Given the description of an element on the screen output the (x, y) to click on. 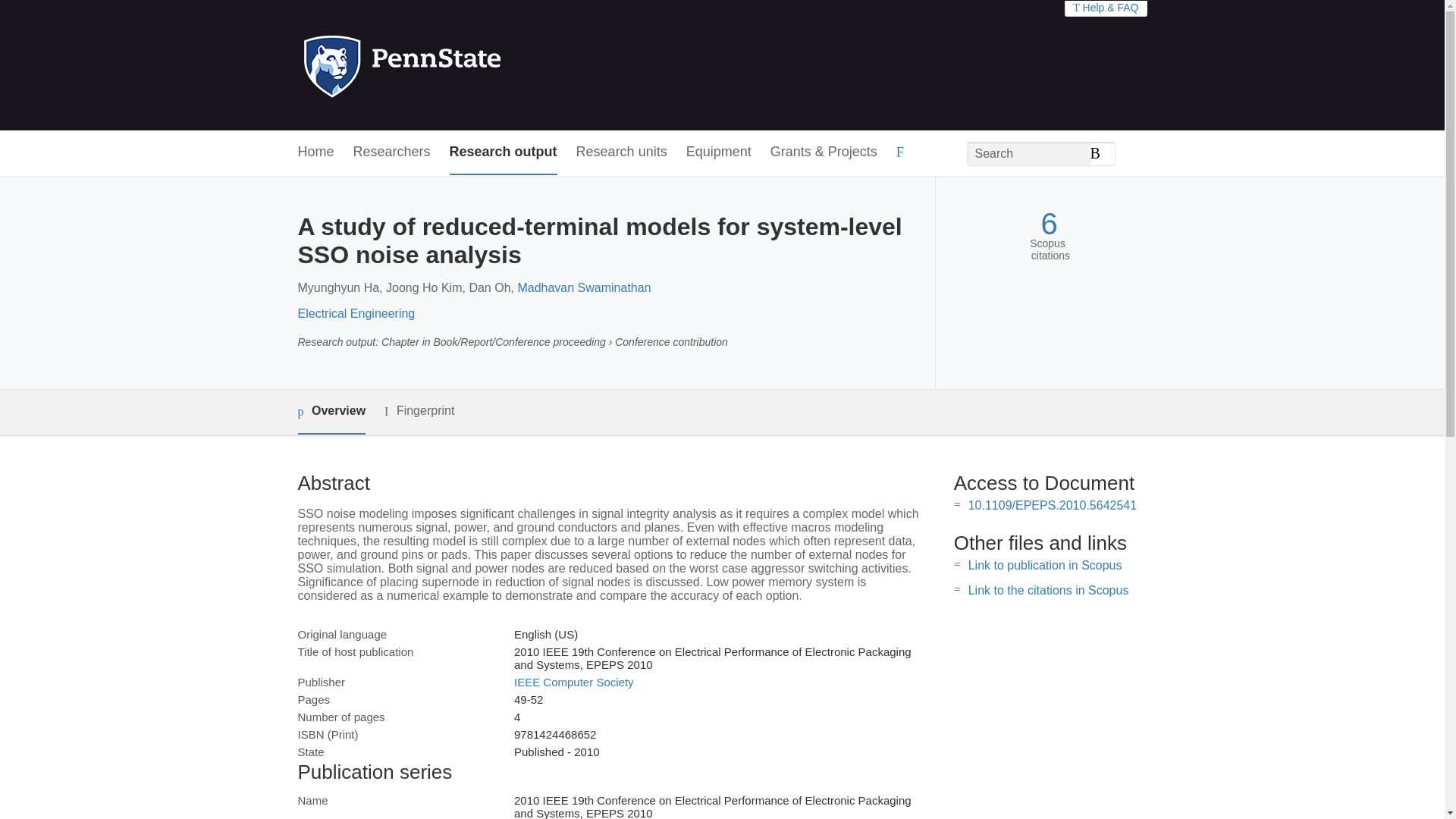
Overview (331, 411)
Research output (503, 152)
Electrical Engineering (355, 313)
Penn State Home (467, 65)
Madhavan Swaminathan (583, 287)
Research units (621, 152)
Equipment (718, 152)
IEEE Computer Society (573, 681)
Researchers (391, 152)
